Given the description of an element on the screen output the (x, y) to click on. 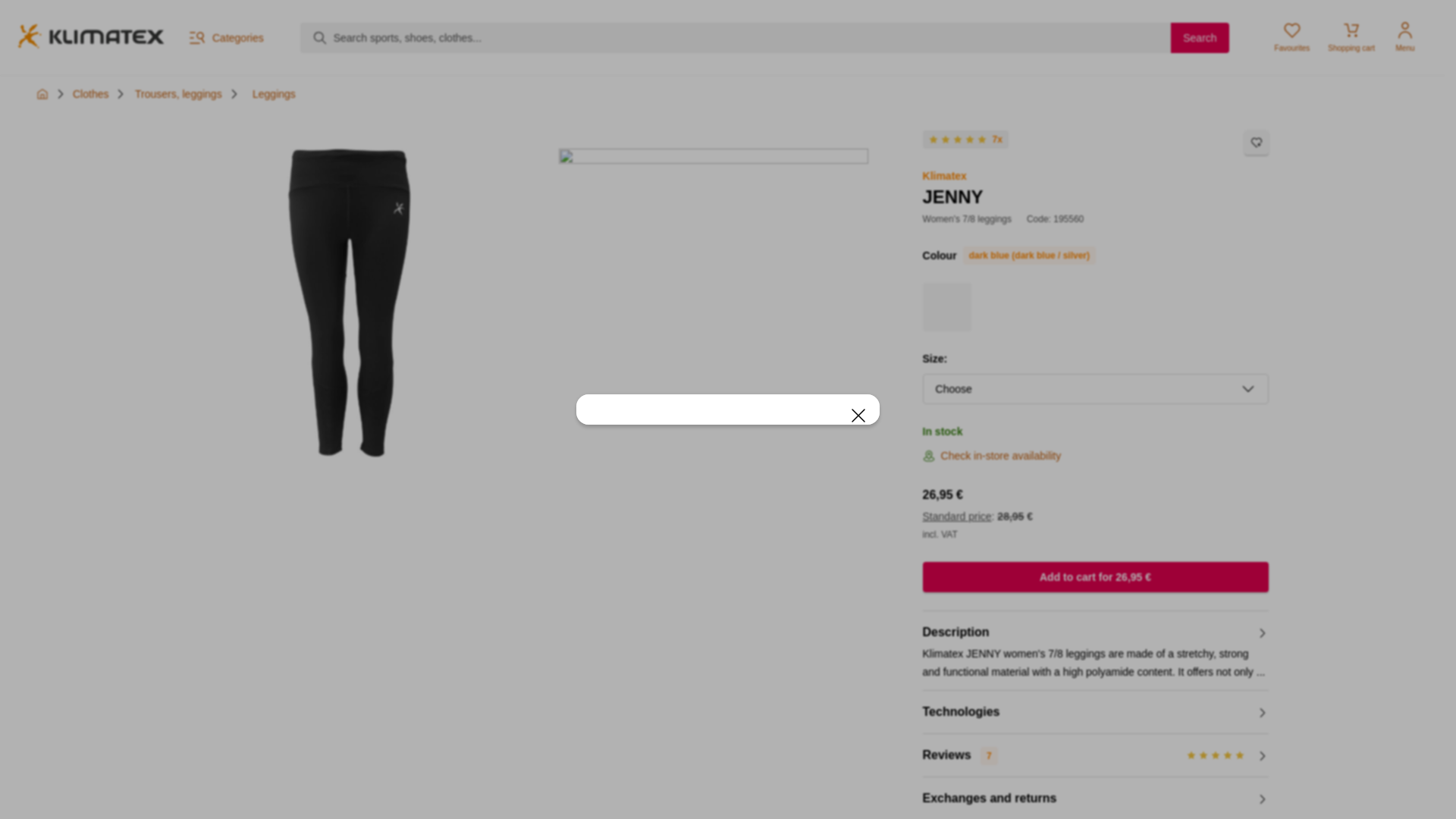
klimatex.eu (90, 37)
Check in-store availability (1000, 455)
Clothes (89, 93)
Search (166, 94)
Leggings (1199, 37)
Shopping cart (273, 93)
Favourites (1351, 37)
Clothes (1292, 37)
Trousers, leggings (89, 93)
